Given the description of an element on the screen output the (x, y) to click on. 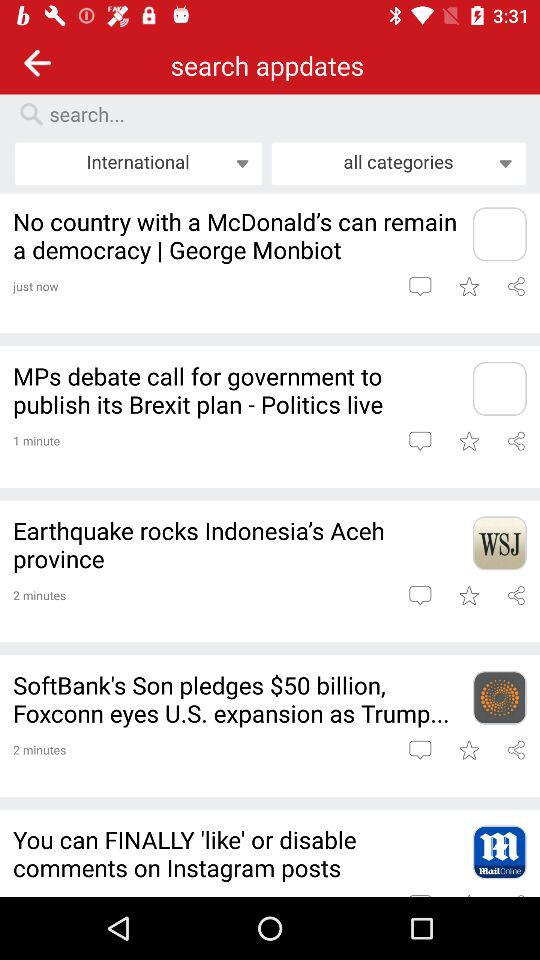
add comment (419, 286)
